Given the description of an element on the screen output the (x, y) to click on. 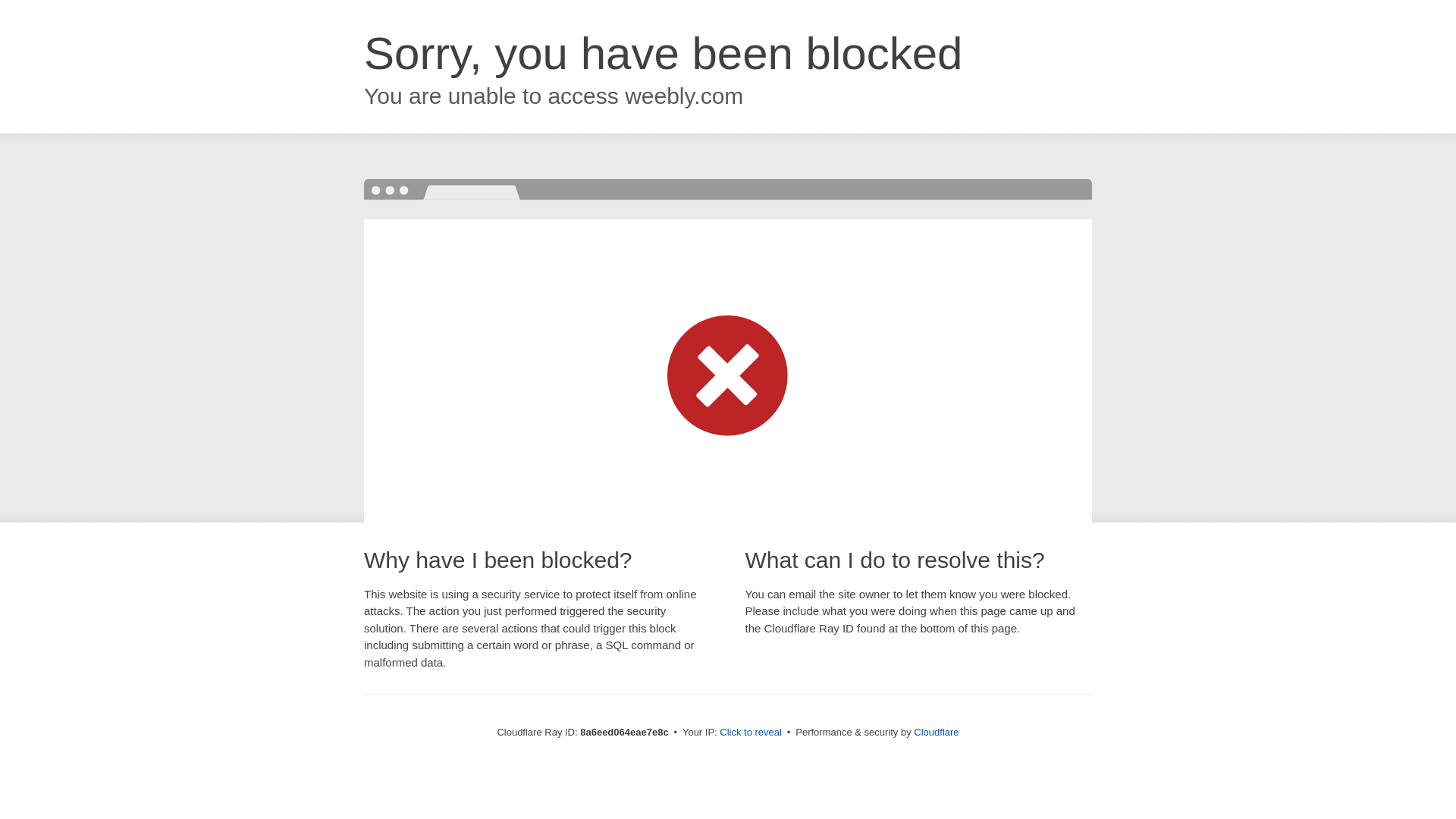
Click to reveal (750, 732)
Cloudflare (936, 731)
